Given the description of an element on the screen output the (x, y) to click on. 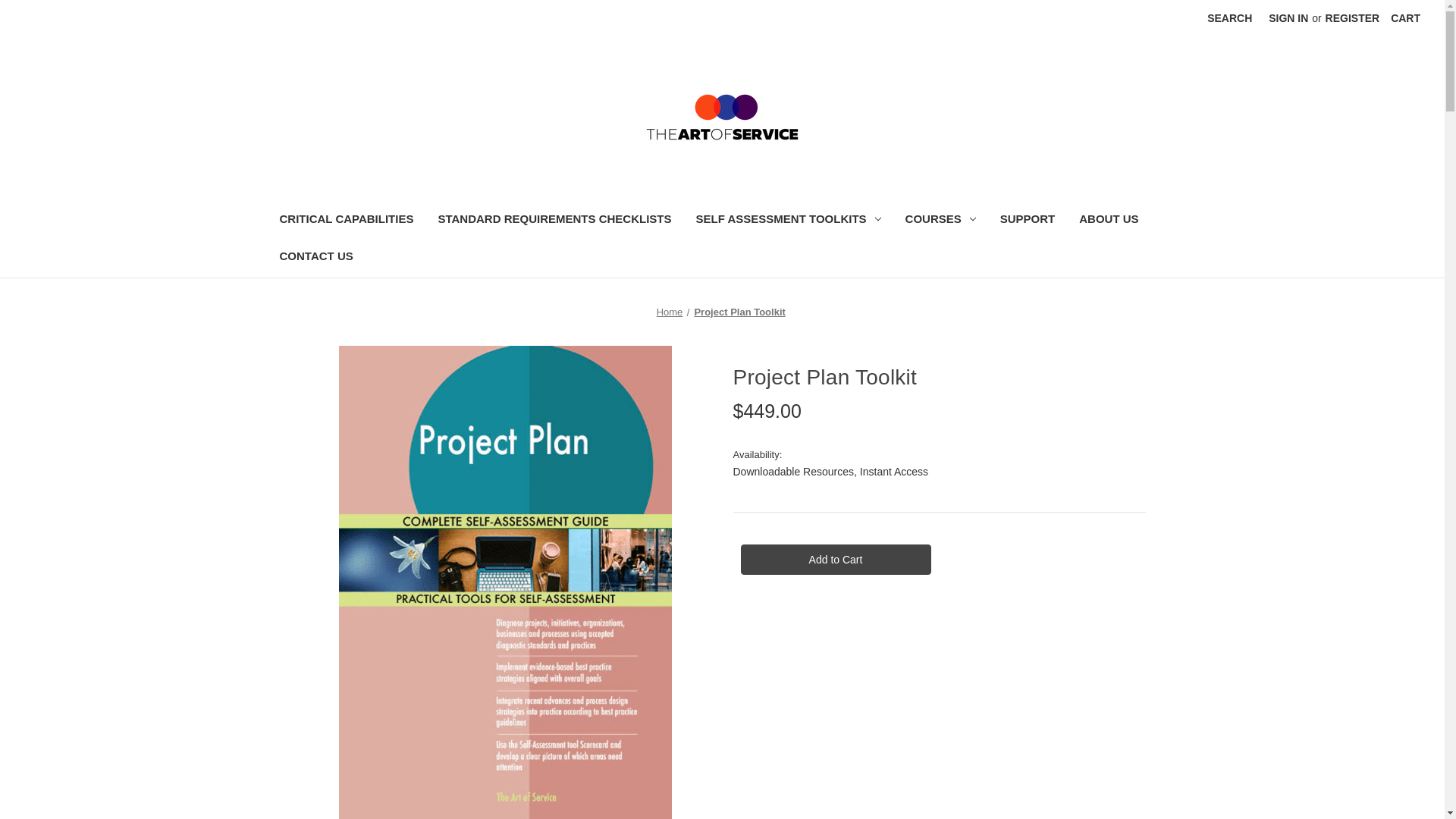
Add to Cart (834, 559)
REGISTER (1353, 18)
SELF ASSESSMENT TOOLKITS (788, 220)
SEARCH (1229, 18)
CART (1404, 18)
SIGN IN (1288, 18)
The Art of Service Standard Requirements Self Assessments (721, 116)
STANDARD REQUIREMENTS CHECKLISTS (553, 220)
COURSES (940, 220)
CRITICAL CAPABILITIES (345, 220)
